Given the description of an element on the screen output the (x, y) to click on. 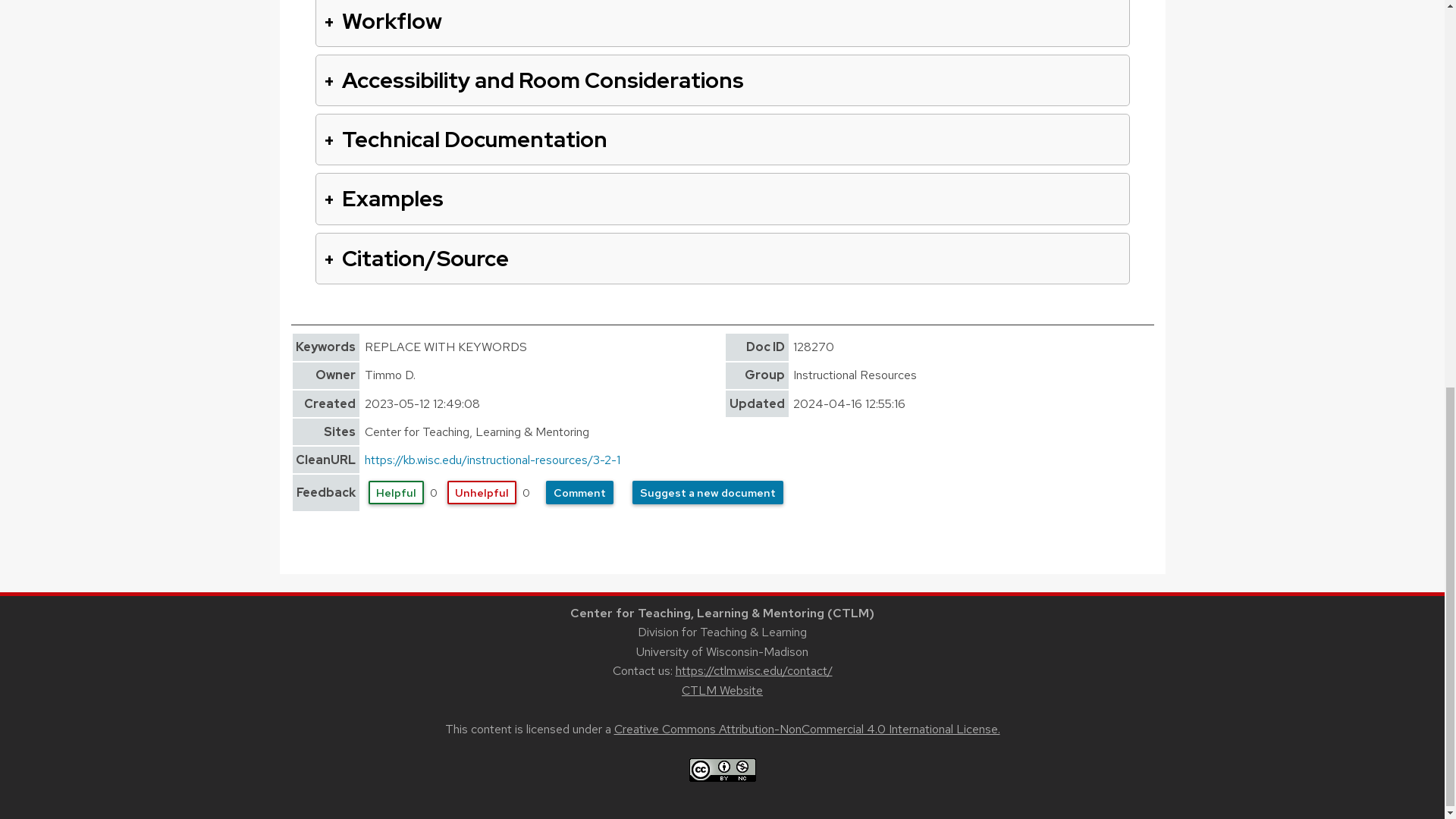
Comment (579, 492)
Suggest a new document (707, 492)
CTLM Website (721, 690)
Unhelpful (481, 492)
Helpful (395, 492)
